Given the description of an element on the screen output the (x, y) to click on. 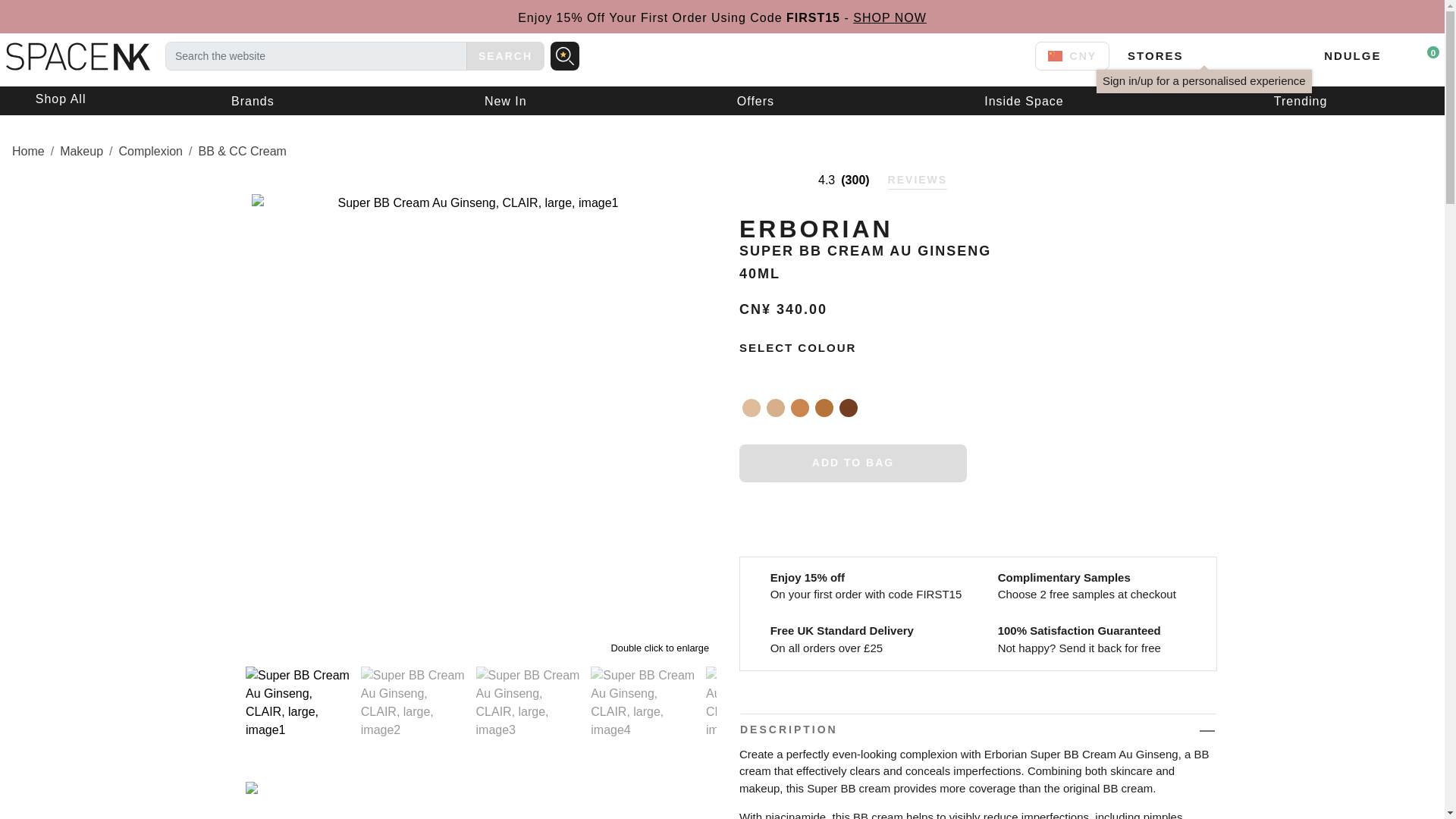
SHOP NOW (889, 17)
Ndulge (1351, 54)
STORES (1154, 54)
Space NK Home (74, 54)
Stores (1154, 54)
SHOP NOW (889, 17)
NDULGE (1351, 54)
SEARCH (504, 55)
CNY (1072, 55)
